Given the description of an element on the screen output the (x, y) to click on. 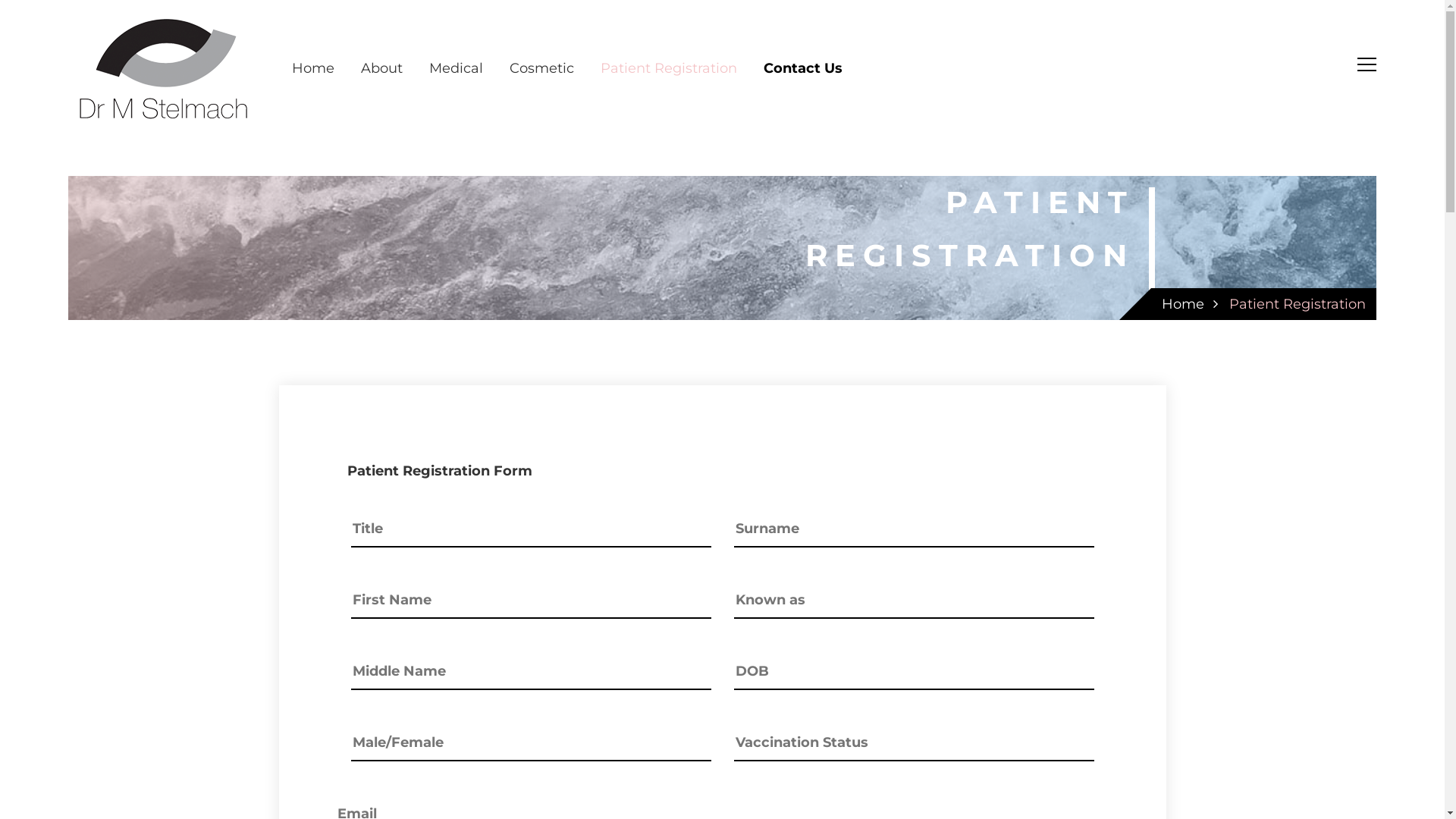
Home Element type: text (312, 67)
Contact Us Element type: text (802, 67)
Home Element type: text (1182, 303)
Patient Registration Element type: text (668, 67)
About Element type: text (381, 67)
Cosmetic Element type: text (541, 67)
Patient Registration Element type: text (1297, 303)
Medical Element type: text (456, 67)
